Given the description of an element on the screen output the (x, y) to click on. 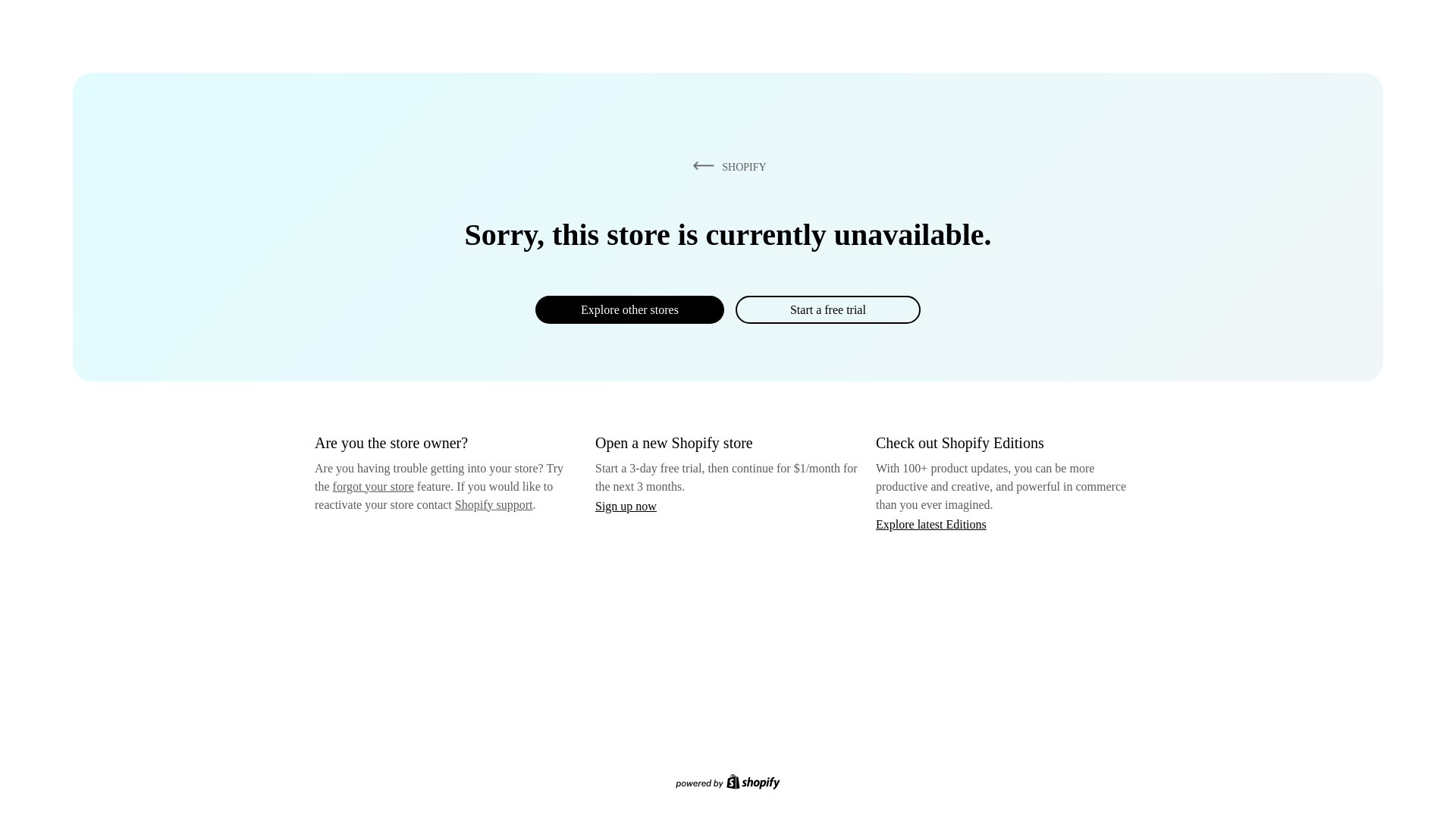
Shopify support (493, 504)
SHOPIFY (726, 166)
forgot your store (373, 486)
Explore latest Editions (931, 523)
Start a free trial (827, 309)
Sign up now (625, 505)
Explore other stores (629, 309)
